Given the description of an element on the screen output the (x, y) to click on. 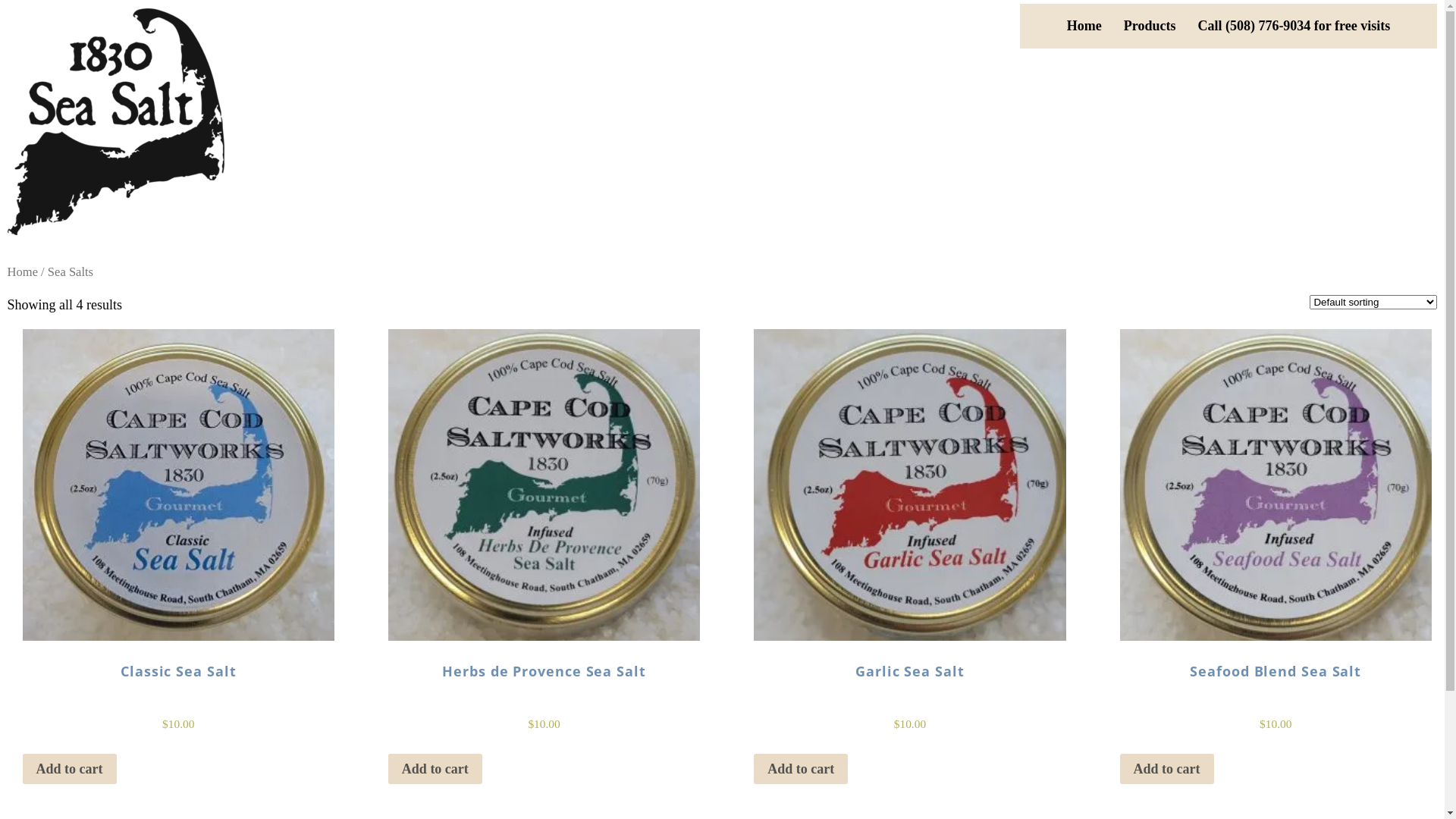
Home Element type: text (1083, 25)
Products Element type: text (1149, 25)
Seafood Blend Sea Salt
$10.00 Element type: text (1275, 552)
Add to cart Element type: text (435, 768)
Herbs de Provence Sea Salt
$10.00 Element type: text (543, 552)
1830 Sea Salt Element type: hover (115, 121)
Call (508) 776-9034 for free visits Element type: text (1293, 25)
Add to cart Element type: text (800, 768)
Home Element type: text (22, 271)
Classic Sea Salt
$10.00 Element type: text (178, 552)
Garlic Sea Salt
$10.00 Element type: text (909, 552)
Add to cart Element type: text (1167, 768)
Add to cart Element type: text (69, 768)
